Given the description of an element on the screen output the (x, y) to click on. 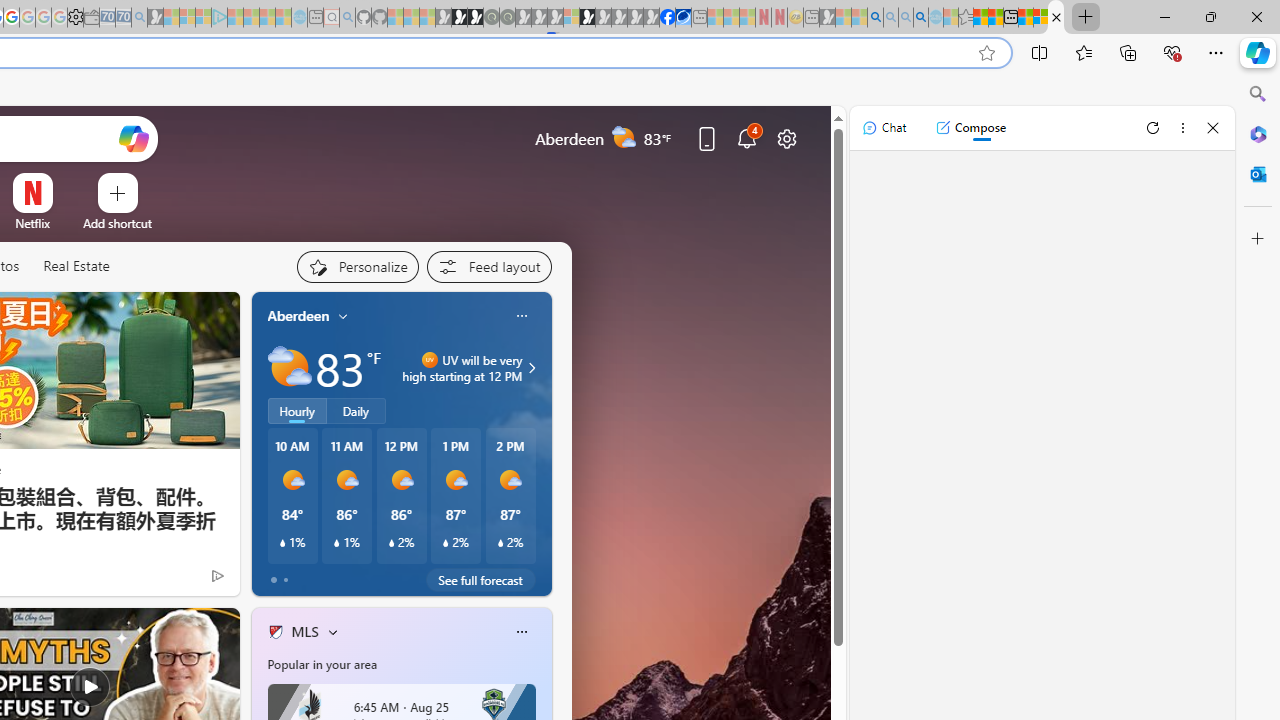
Netflix (32, 223)
Microsoft Start Gaming - Sleeping (155, 17)
My location (343, 315)
Partly sunny (289, 368)
More interests (332, 631)
